Given the description of an element on the screen output the (x, y) to click on. 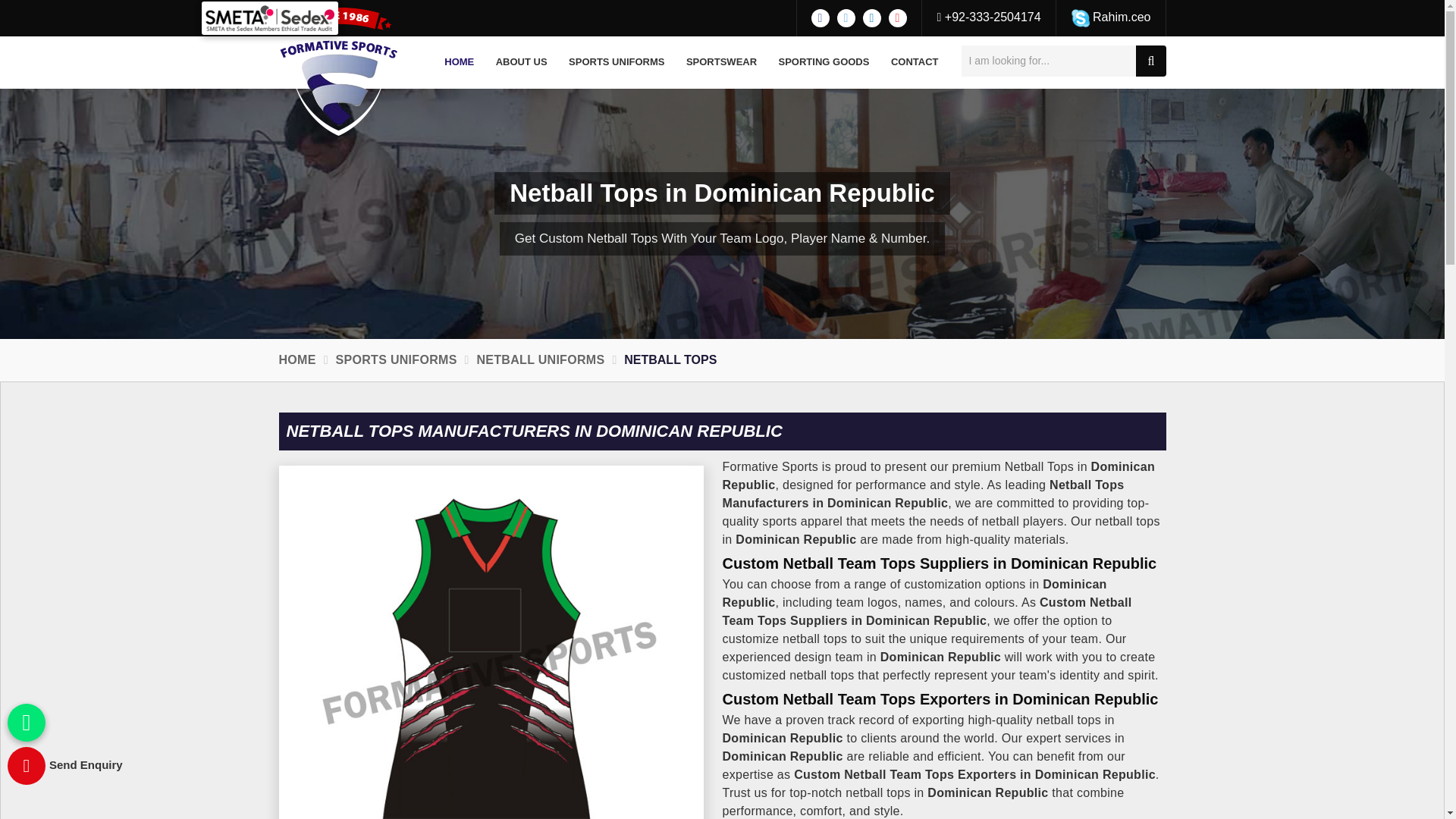
Call Us (989, 17)
SPORTS UNIFORMS (615, 62)
About Us (521, 62)
Rahim.ceo (1111, 18)
Home (459, 62)
ABOUT US (521, 62)
skype (1080, 18)
HOME (459, 62)
Pinterest (897, 18)
Formative Sports (338, 71)
